Given the description of an element on the screen output the (x, y) to click on. 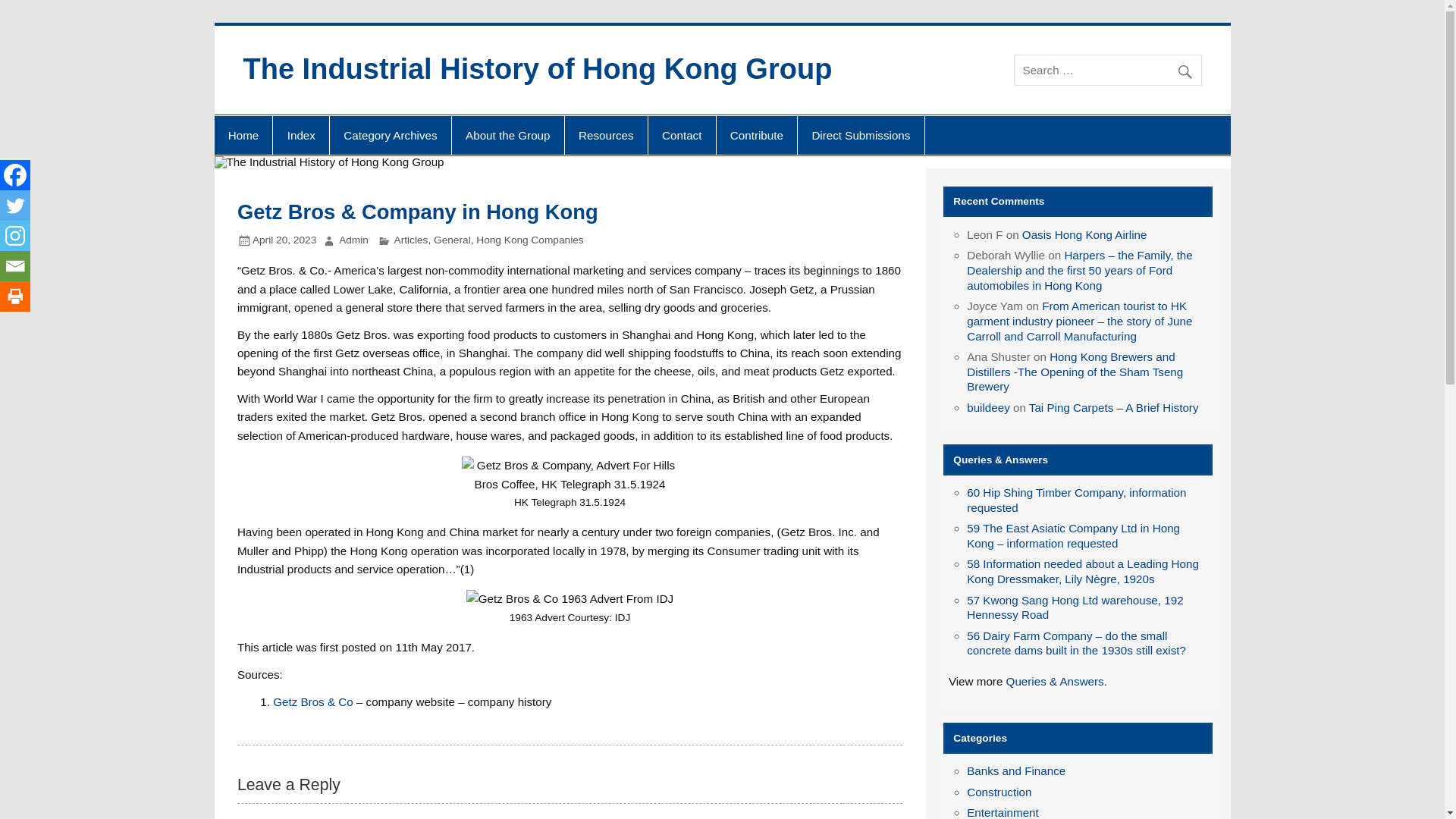
Twitter (15, 205)
Oasis Hong Kong Airline (1084, 234)
Articles (411, 239)
buildeey (988, 407)
Admin (353, 239)
Contribute (756, 135)
View all posts filed under Banks and Finance (1015, 770)
60 Hip Shing Timber Company, information requested (1076, 500)
Category Archives (390, 135)
Direct Submissions (860, 135)
